Given the description of an element on the screen output the (x, y) to click on. 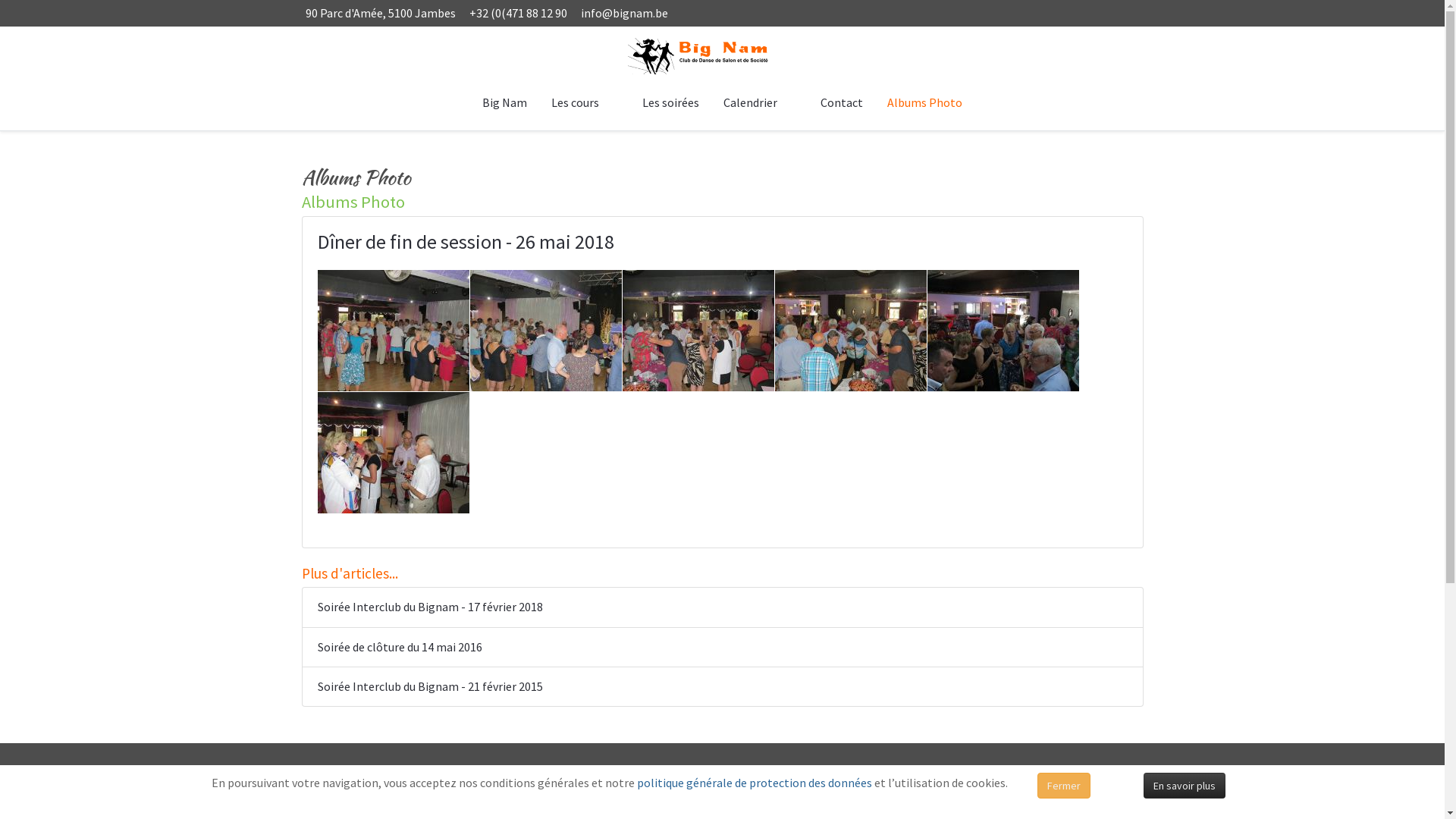
info@bignam.be Element type: text (624, 12)
Albums Photo Element type: text (924, 102)
Big Nam Element type: text (504, 102)
Connexion Element type: text (761, 809)
Contact Element type: text (841, 102)
Fermer Element type: text (1063, 785)
+32 (0(471 88 12 90 Element type: text (517, 12)
Calendrier Element type: text (759, 102)
Plan du site Element type: text (764, 789)
En savoir plus Element type: text (1184, 785)
Les cours Element type: text (584, 102)
